Given the description of an element on the screen output the (x, y) to click on. 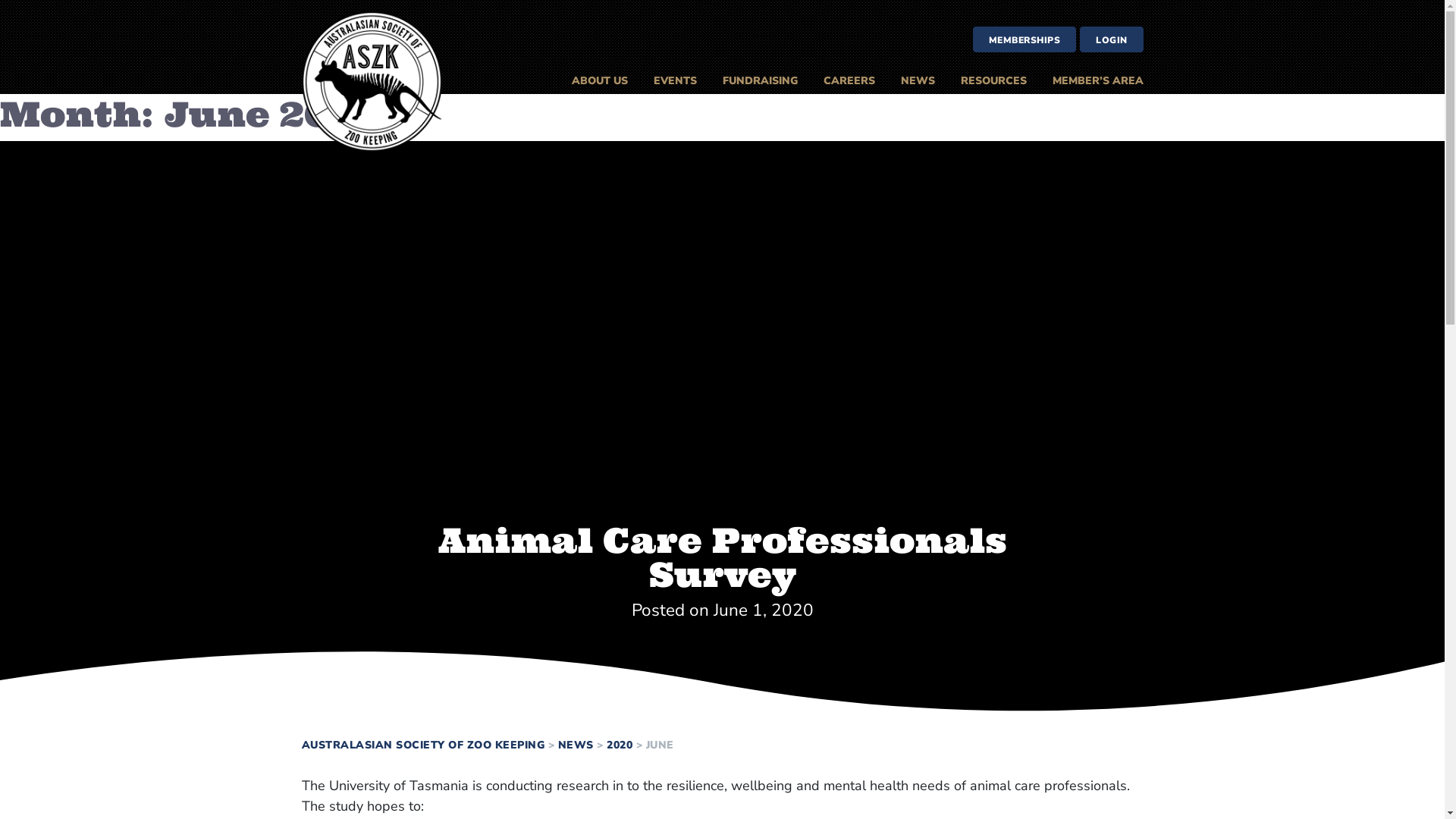
FUNDRAISING Element type: text (760, 81)
NEWS Element type: text (575, 744)
MEMBERSHIPS Element type: text (1024, 39)
2020 Element type: text (619, 744)
EVENTS Element type: text (674, 81)
NEWS Element type: text (916, 81)
AUSTRALASIAN SOCIETY OF ZOO KEEPING Element type: text (423, 744)
LOGIN Element type: text (1111, 39)
RESOURCES Element type: text (993, 81)
ABOUT US Element type: text (598, 81)
CAREERS Element type: text (848, 81)
